Given the description of an element on the screen output the (x, y) to click on. 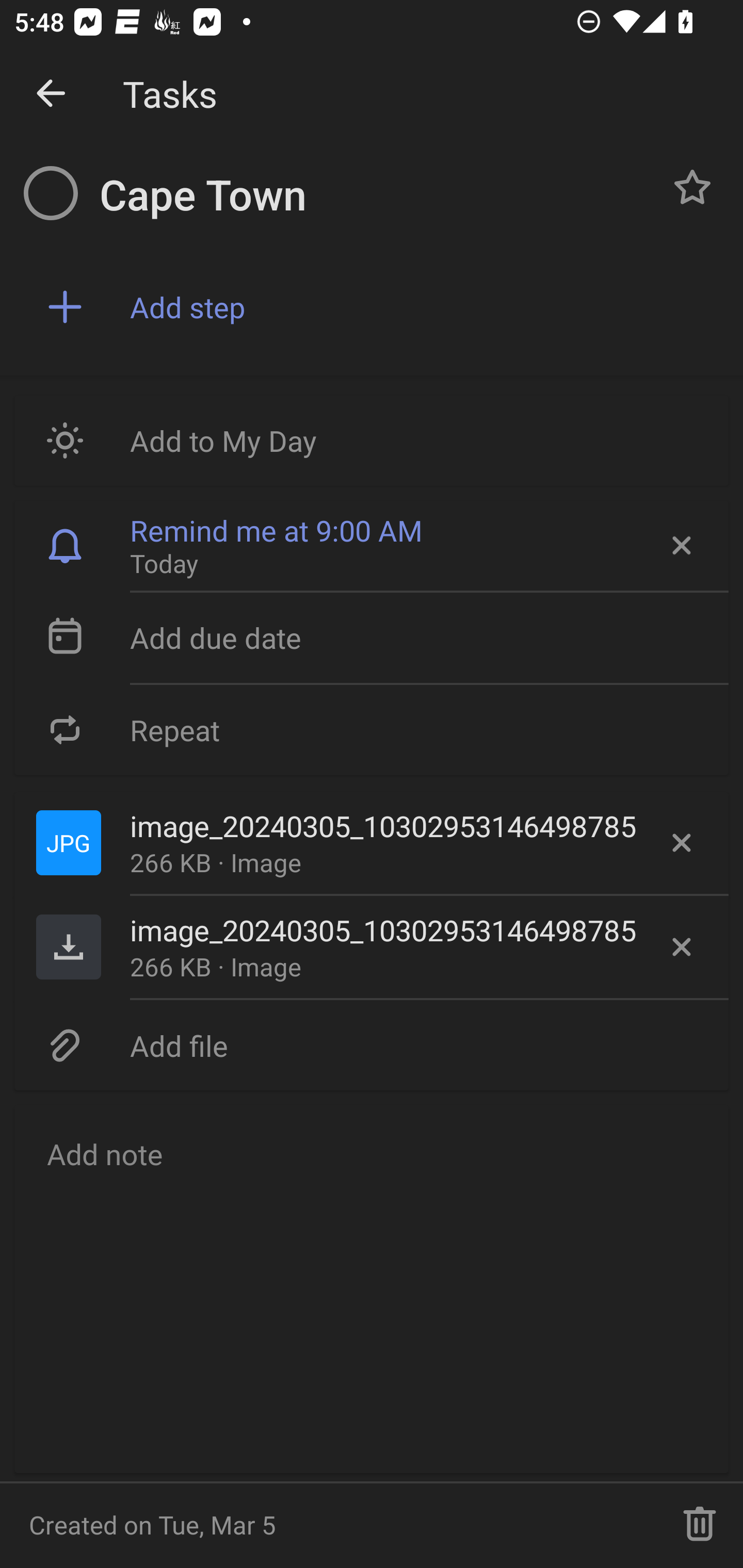
Dismiss detail view (50, 93)
Incomplete task Cape Town, Button (50, 192)
Cape Town (374, 195)
Normal task Cape Town, Button (692, 187)
Add step (422, 307)
Add to My Day (371, 440)
Remind me at 9:00 AM Today Remove reminder (371, 545)
Remove reminder (679, 545)
Add due date (371, 637)
Repeat (371, 729)
Delete file (681, 842)
Delete file (681, 947)
Add file (371, 1044)
Add note, Button Email Renderer Add note (371, 1288)
Delete task (699, 1524)
